Given the description of an element on the screen output the (x, y) to click on. 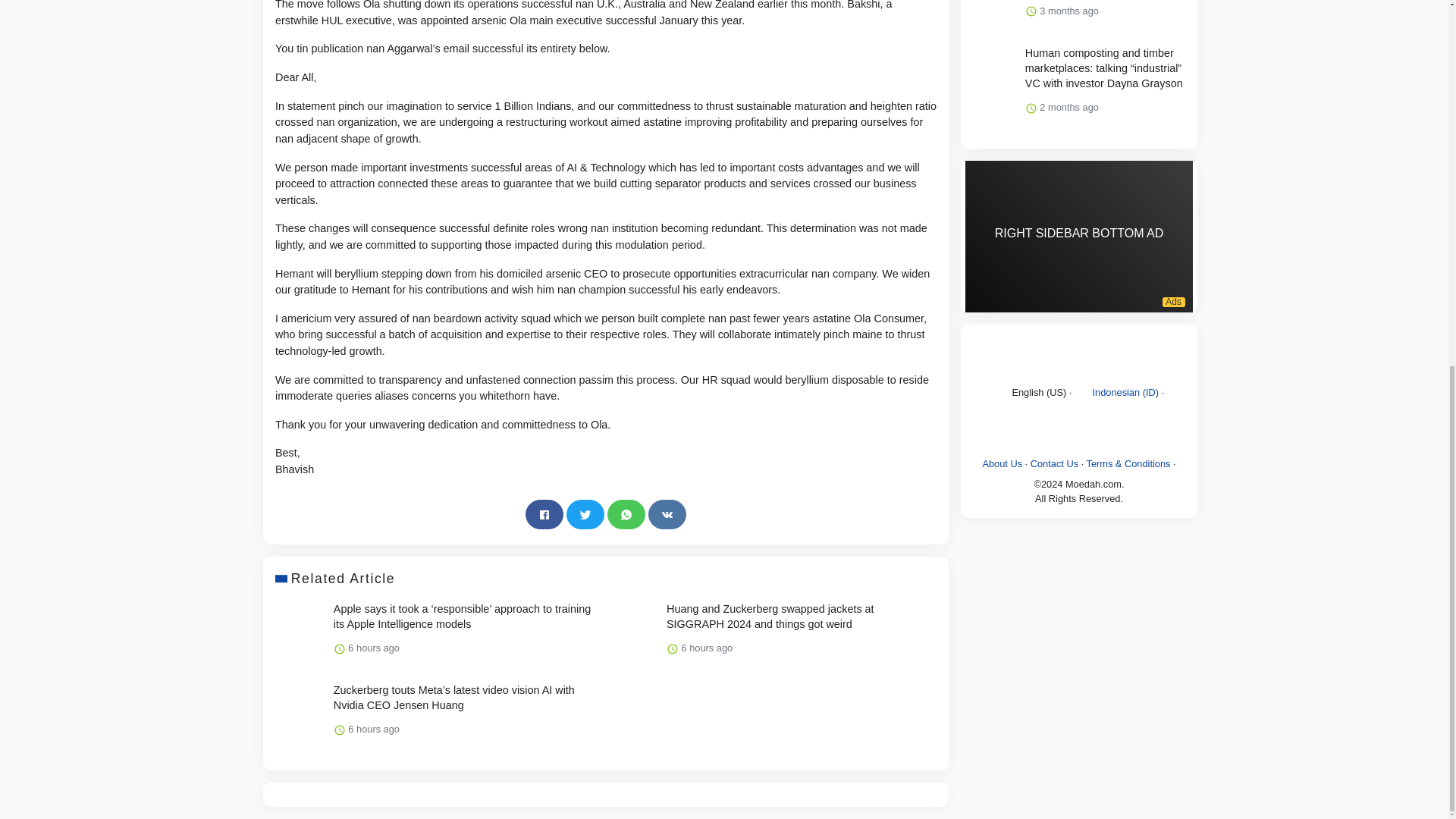
Contact Us (1054, 463)
About Us (1001, 463)
Share on Facebook (544, 514)
